Given the description of an element on the screen output the (x, y) to click on. 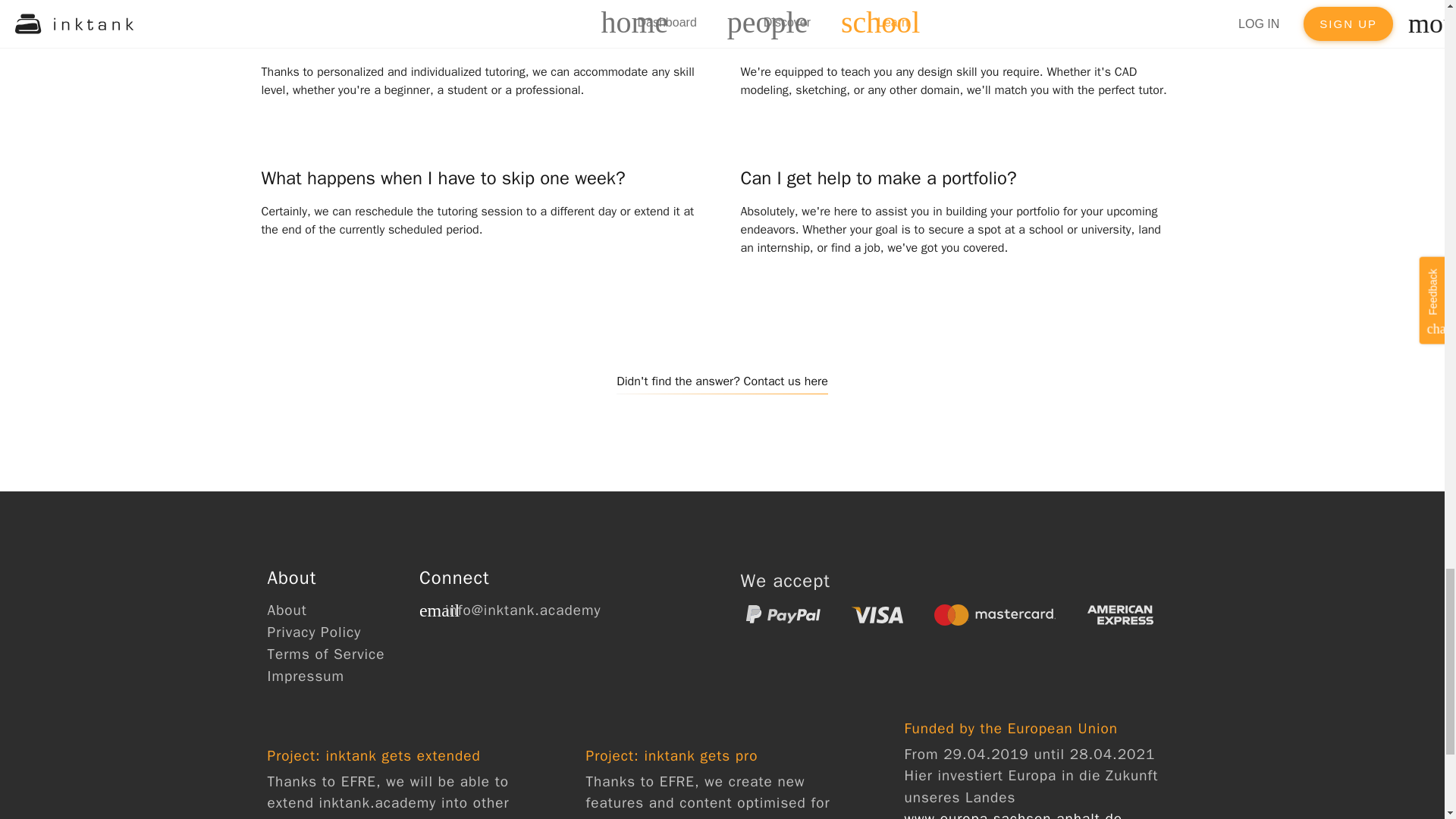
Terms of Service (325, 654)
Privacy Policy (313, 632)
Instagram (463, 642)
www.europa.sachsen-anhalt.de (1013, 814)
Impressum (304, 676)
Youtube (496, 642)
Didn't find the answer? Contact us here (721, 376)
Facebook (430, 642)
About (285, 610)
